Given the description of an element on the screen output the (x, y) to click on. 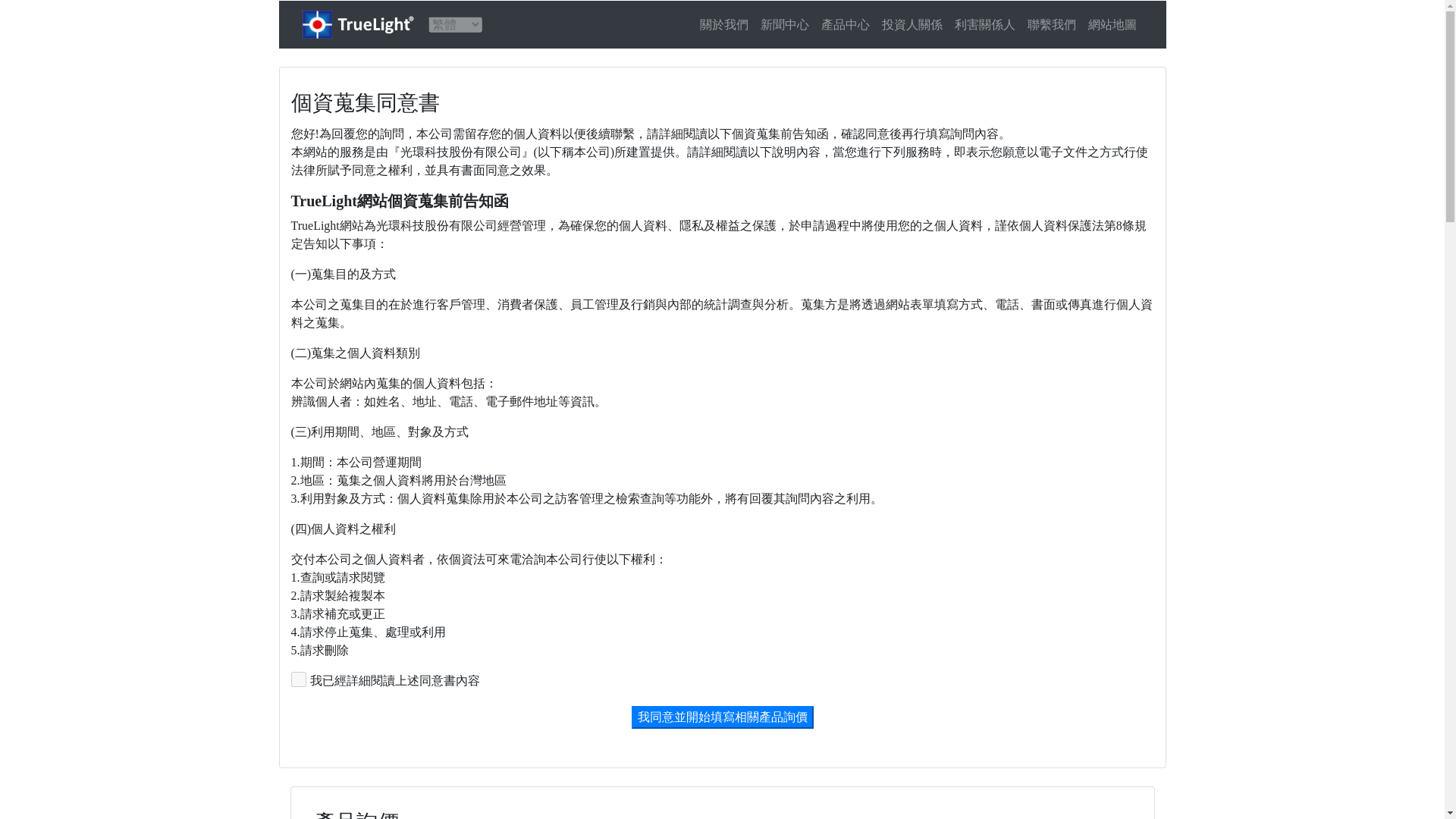
Site Map (1111, 24)
About Us (723, 24)
News (783, 24)
Products (844, 24)
Investor Relationship (911, 24)
Stakeholder (983, 24)
ok (298, 679)
Contact Us (1050, 24)
